Given the description of an element on the screen output the (x, y) to click on. 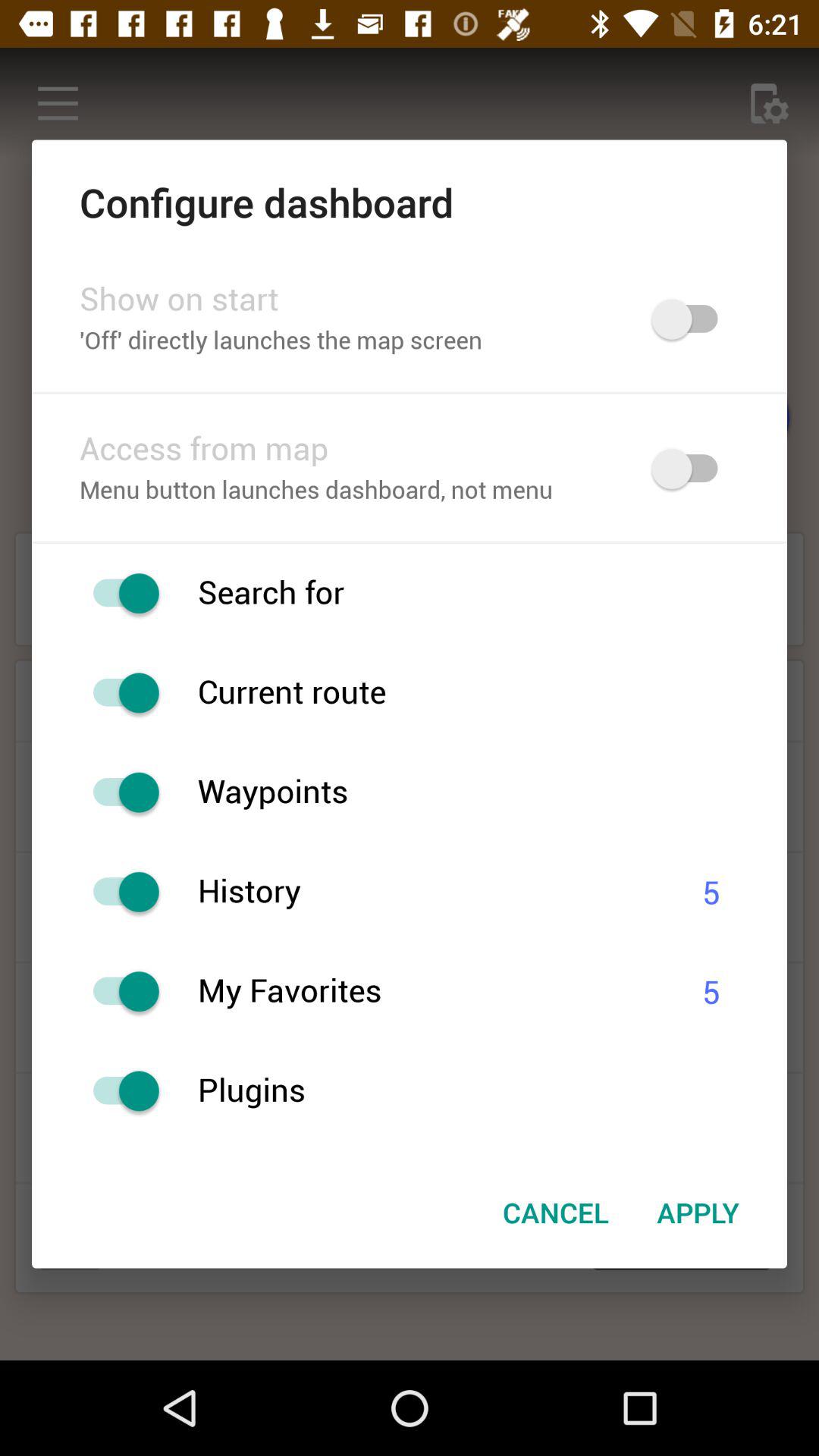
swipe to plugins (492, 1090)
